Given the description of an element on the screen output the (x, y) to click on. 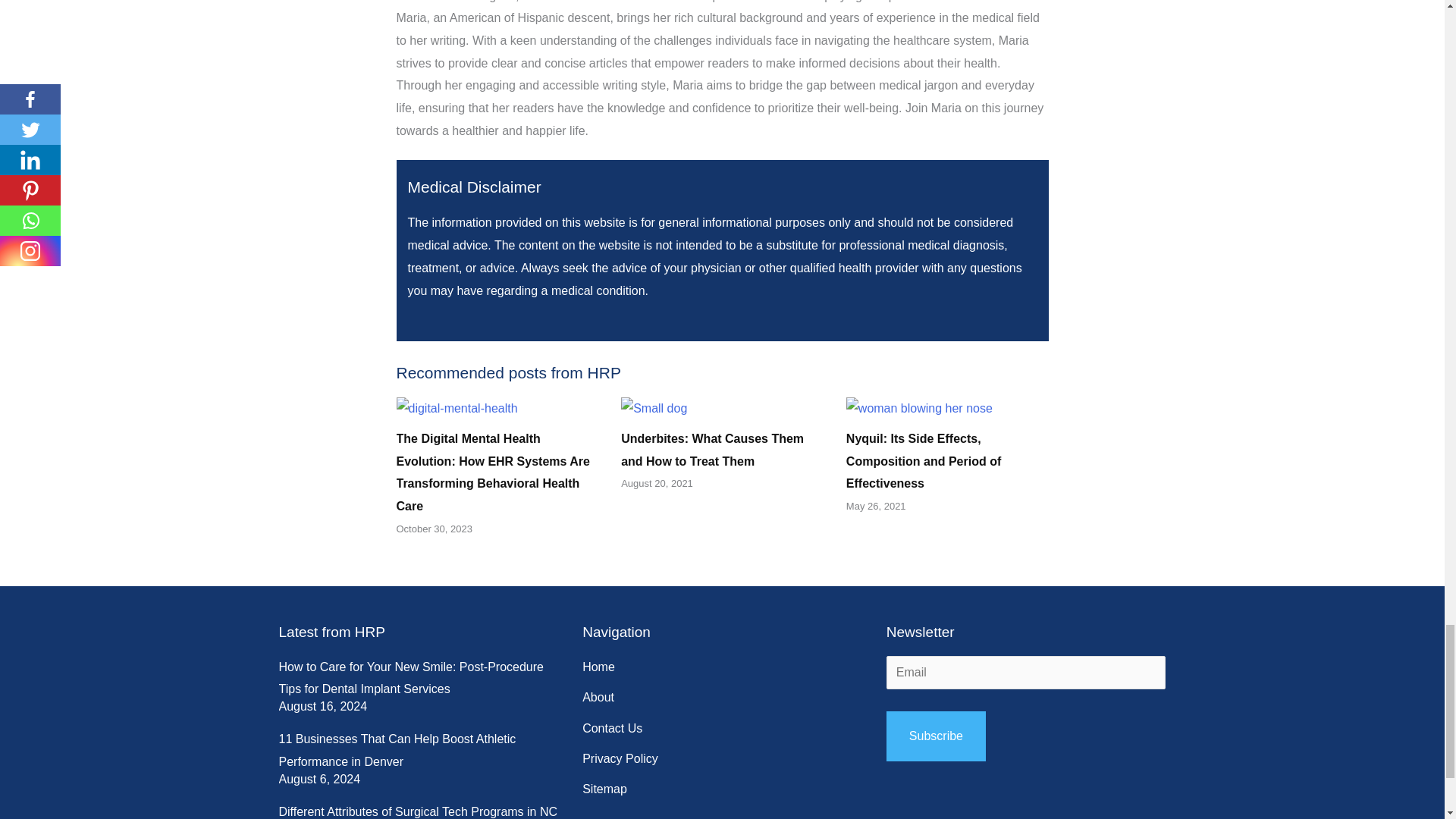
Subscribe (935, 736)
Underbites: What Causes Them and How to Treat Them (712, 449)
